Given the description of an element on the screen output the (x, y) to click on. 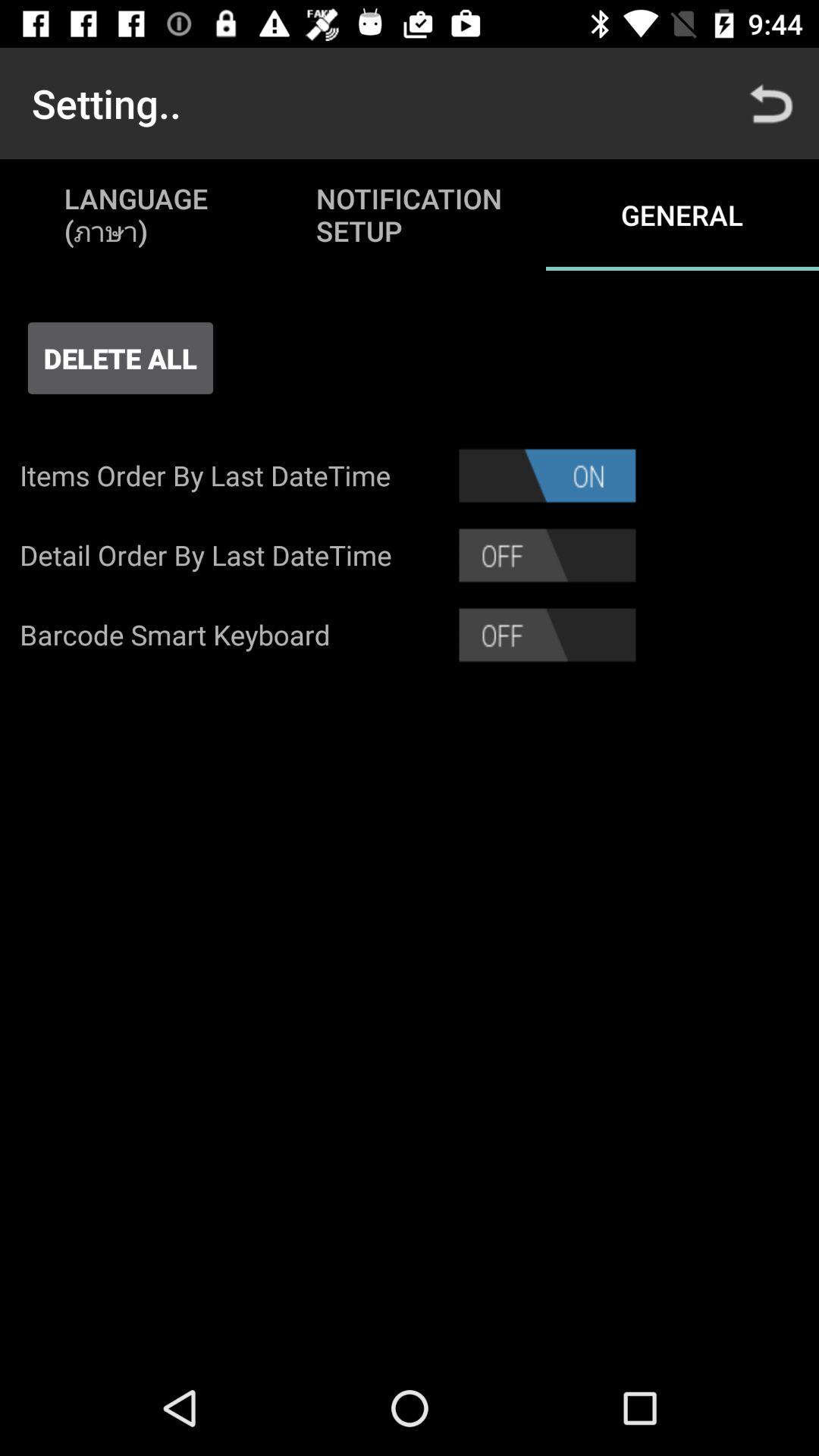
order by date toggle option (547, 555)
